Given the description of an element on the screen output the (x, y) to click on. 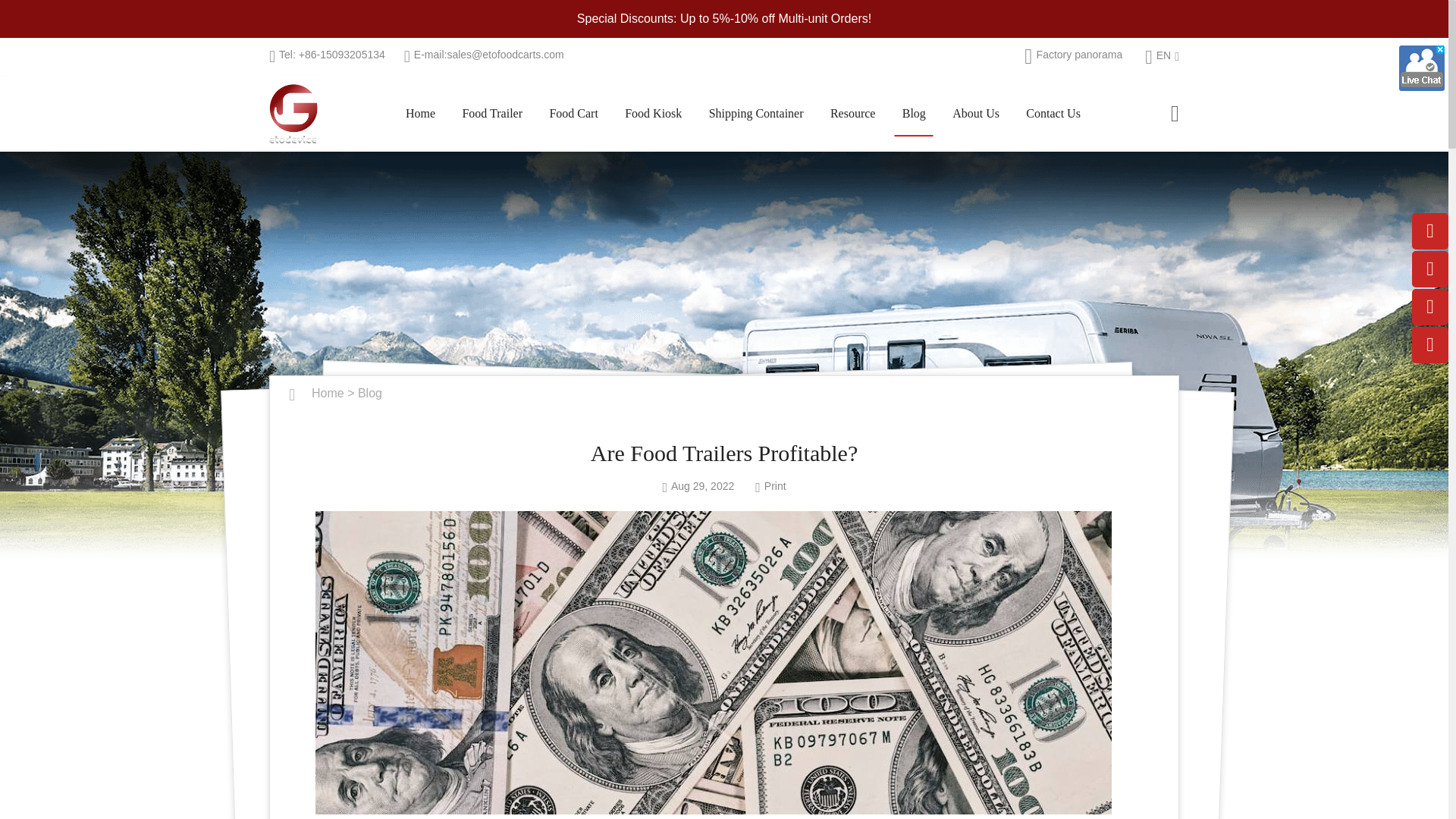
Food Trailer (491, 113)
Food Kiosk (652, 113)
Food Cart (573, 113)
Factory panorama (1073, 56)
Home (419, 113)
Food Trailer (491, 113)
Food Cart (573, 113)
Shipping Container (755, 113)
